Given the description of an element on the screen output the (x, y) to click on. 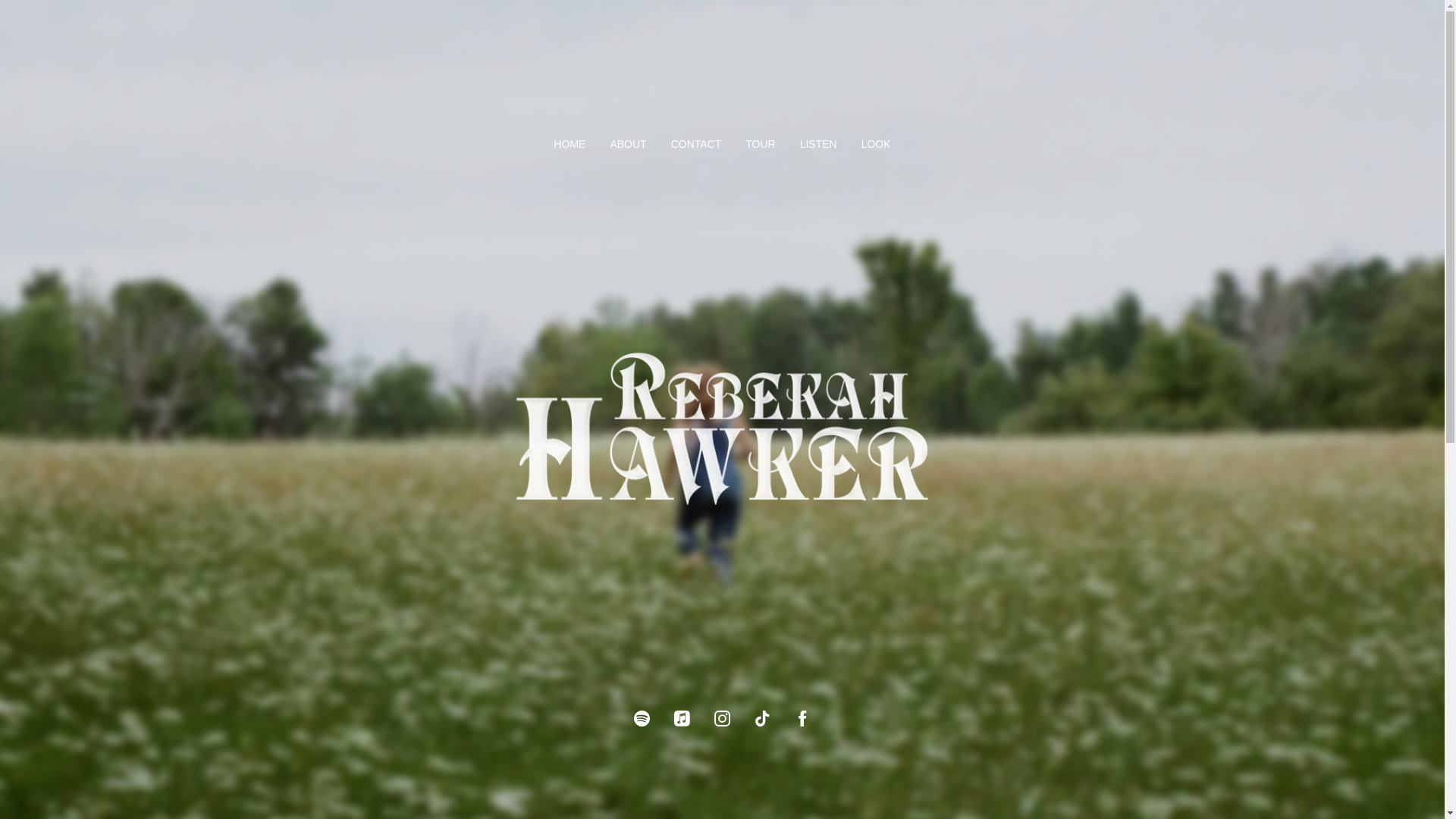
LOOK (876, 144)
LISTEN (818, 144)
CONTACT (696, 144)
HOME (569, 144)
ABOUT (628, 144)
TOUR (759, 144)
